Given the description of an element on the screen output the (x, y) to click on. 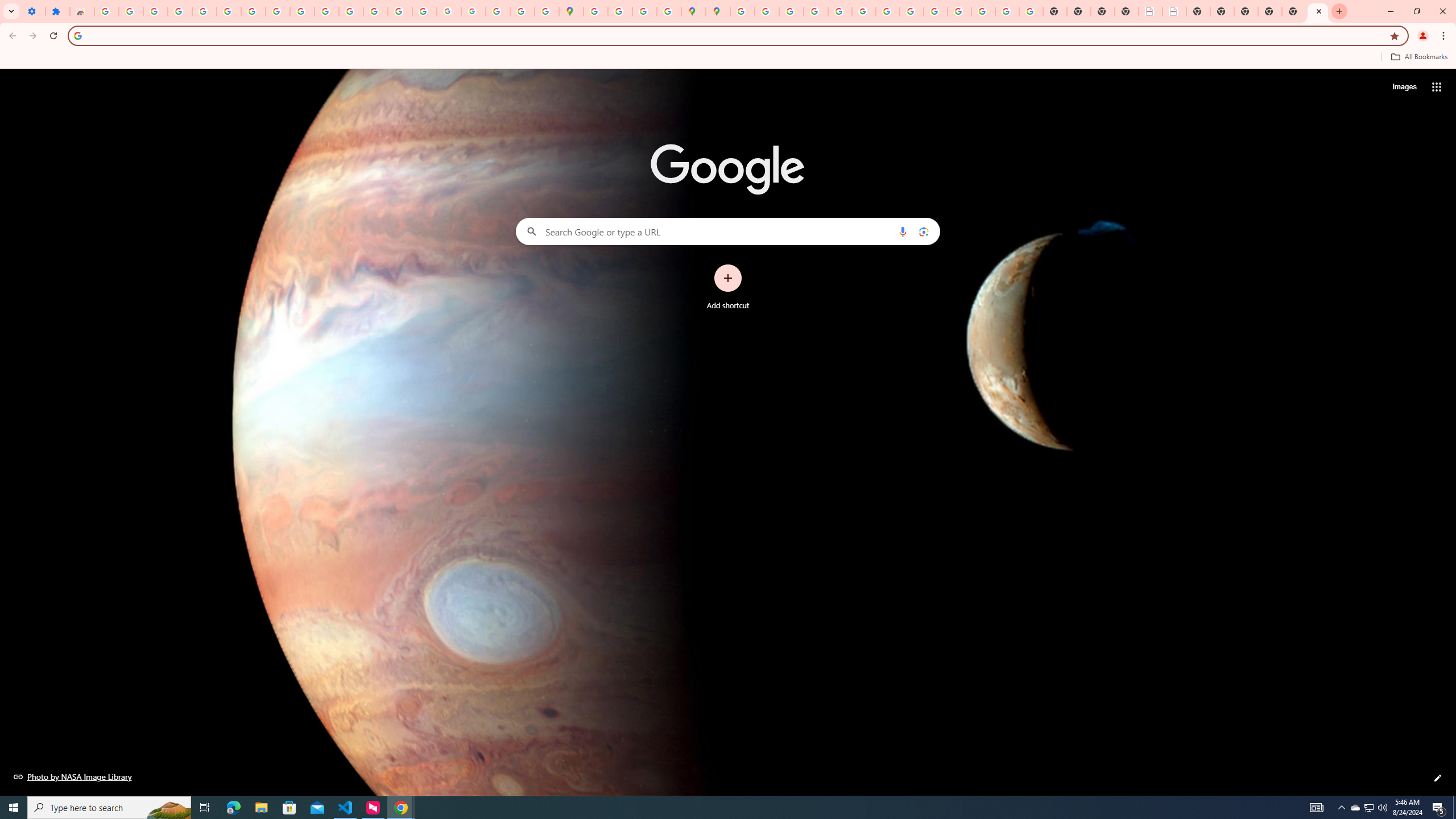
Google Images (1030, 11)
YouTube (302, 11)
Settings - On startup (33, 11)
